Given the description of an element on the screen output the (x, y) to click on. 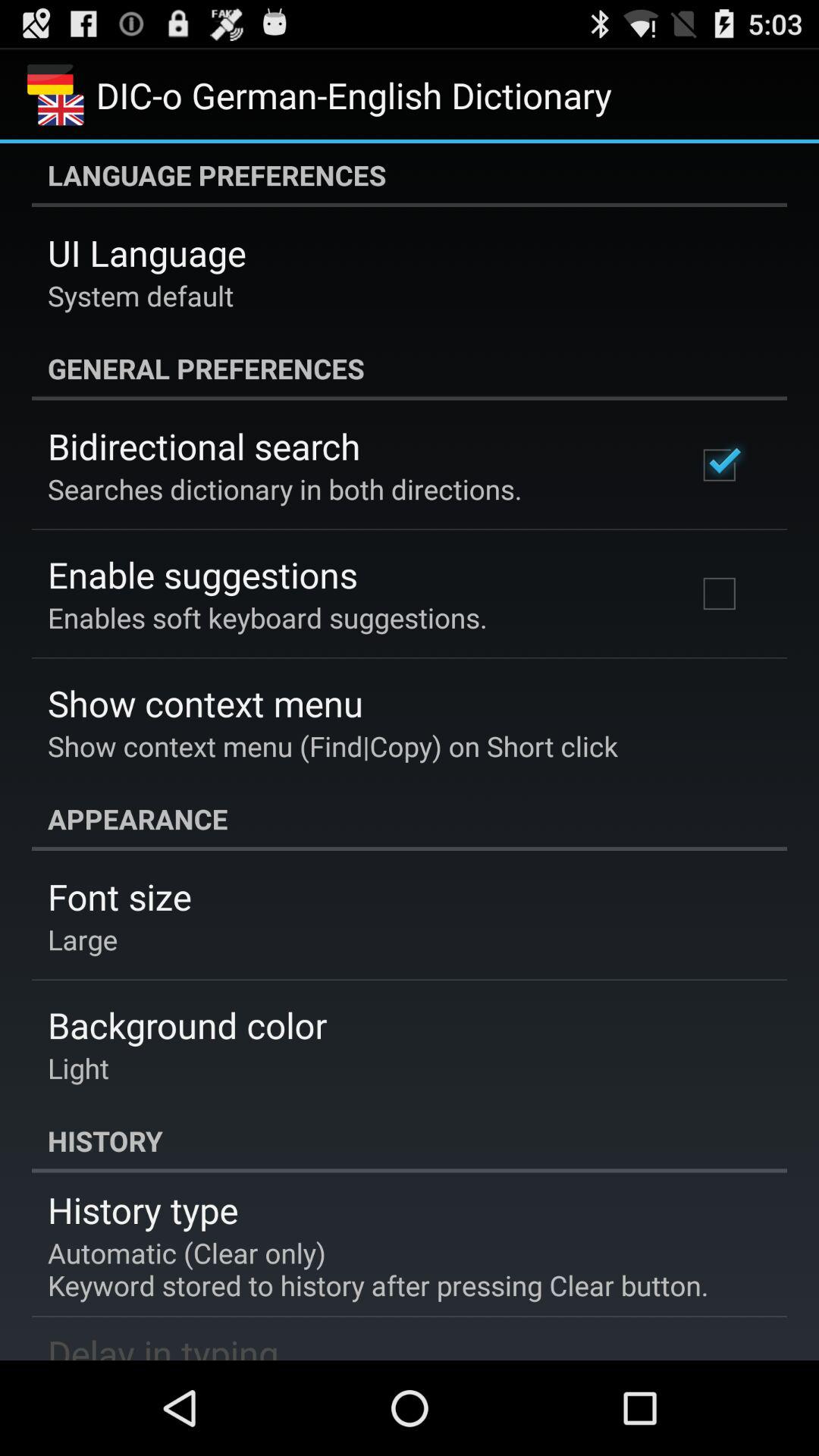
select the icon above the searches dictionary in item (203, 446)
